Given the description of an element on the screen output the (x, y) to click on. 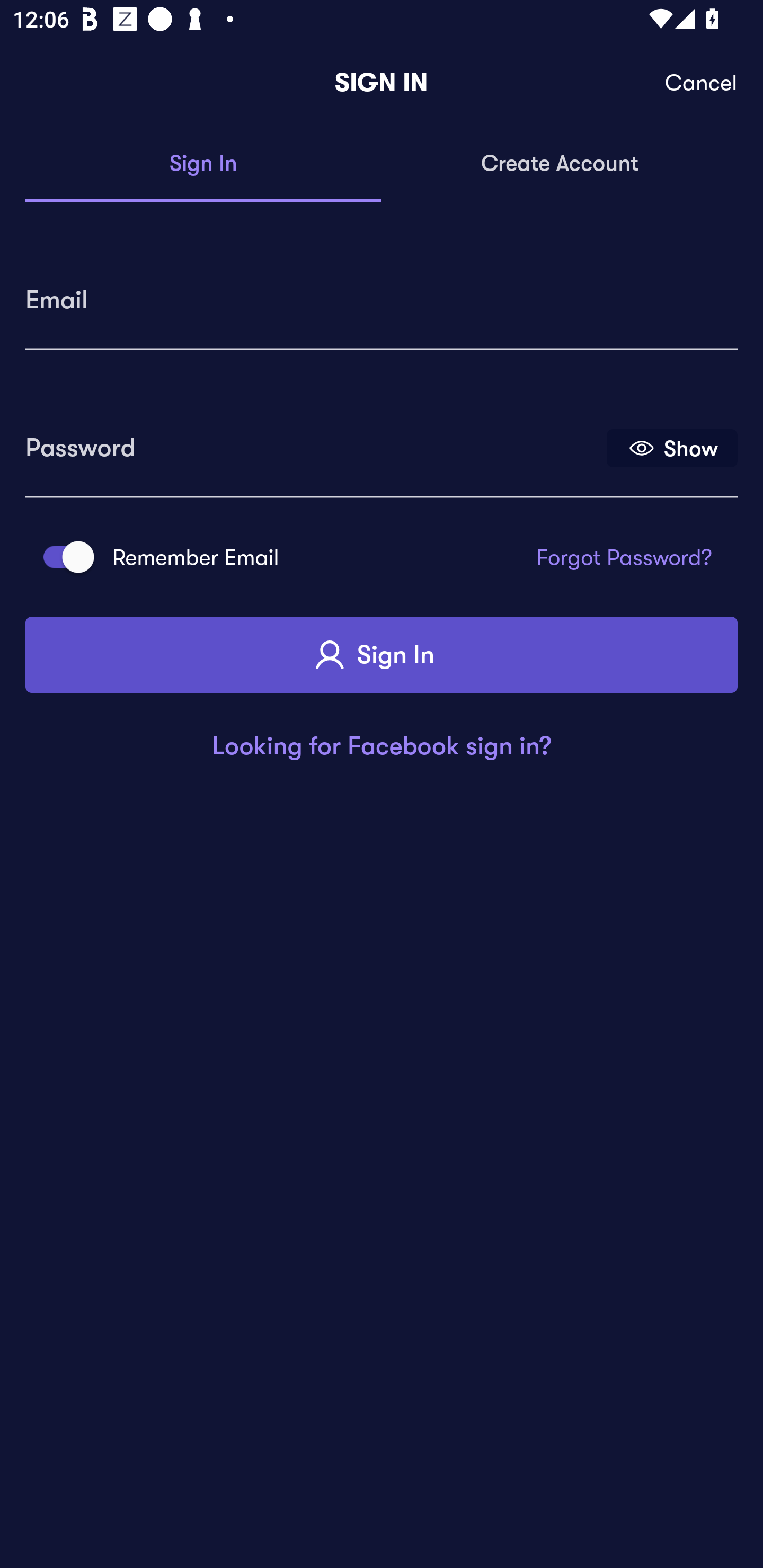
Cancel (701, 82)
Sign In (203, 164)
Create Account (559, 164)
Email (381, 293)
Password (314, 441)
Show Password Show (671, 447)
Remember Email (62, 557)
Sign In (381, 654)
